Given the description of an element on the screen output the (x, y) to click on. 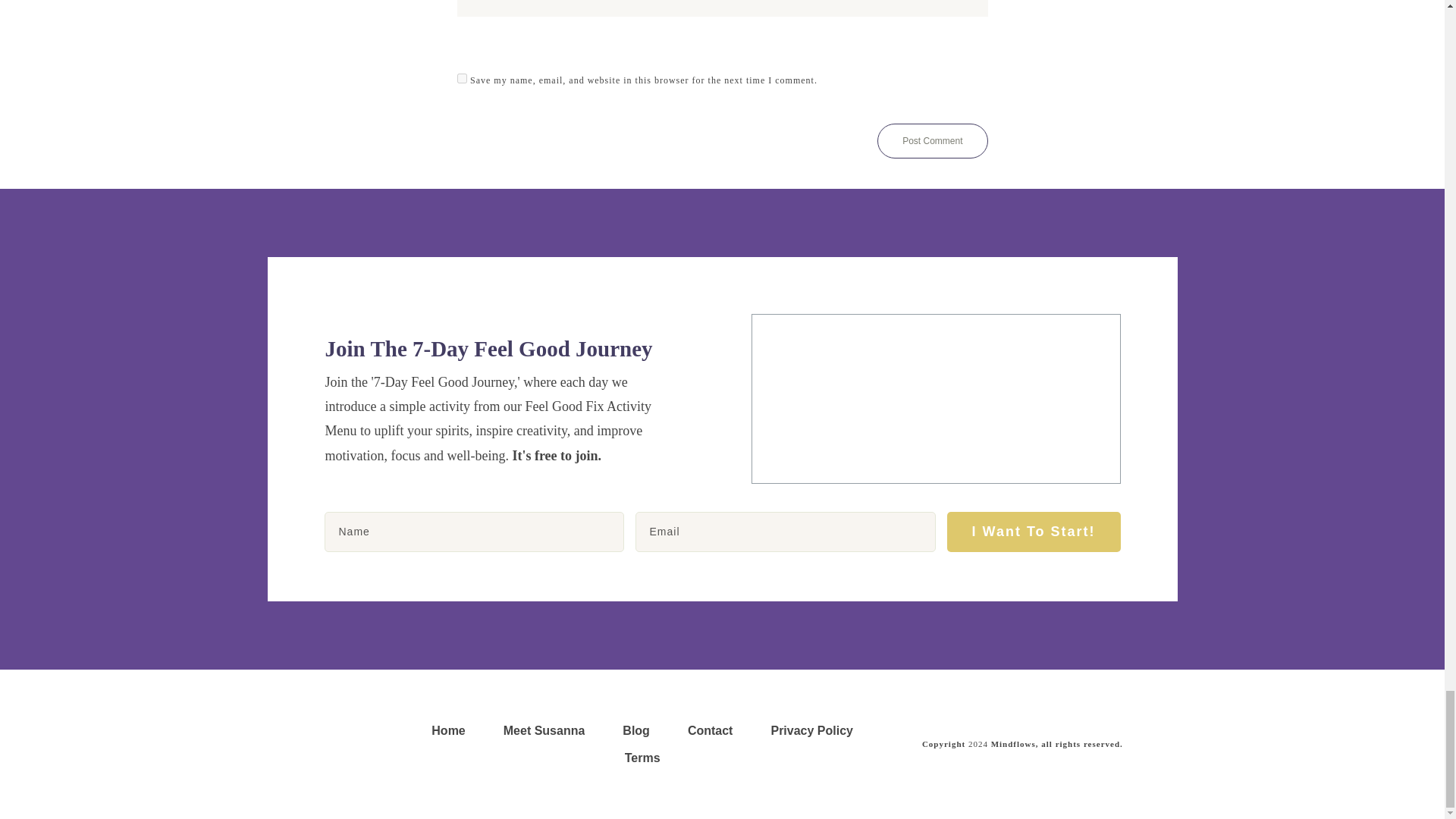
Contact (710, 730)
Blog (636, 730)
Meet Susanna (544, 730)
Home (447, 730)
yes (461, 78)
Post Comment (932, 140)
Privacy Policy (811, 730)
I Want To Start! (1034, 531)
Terms (642, 758)
